Given the description of an element on the screen output the (x, y) to click on. 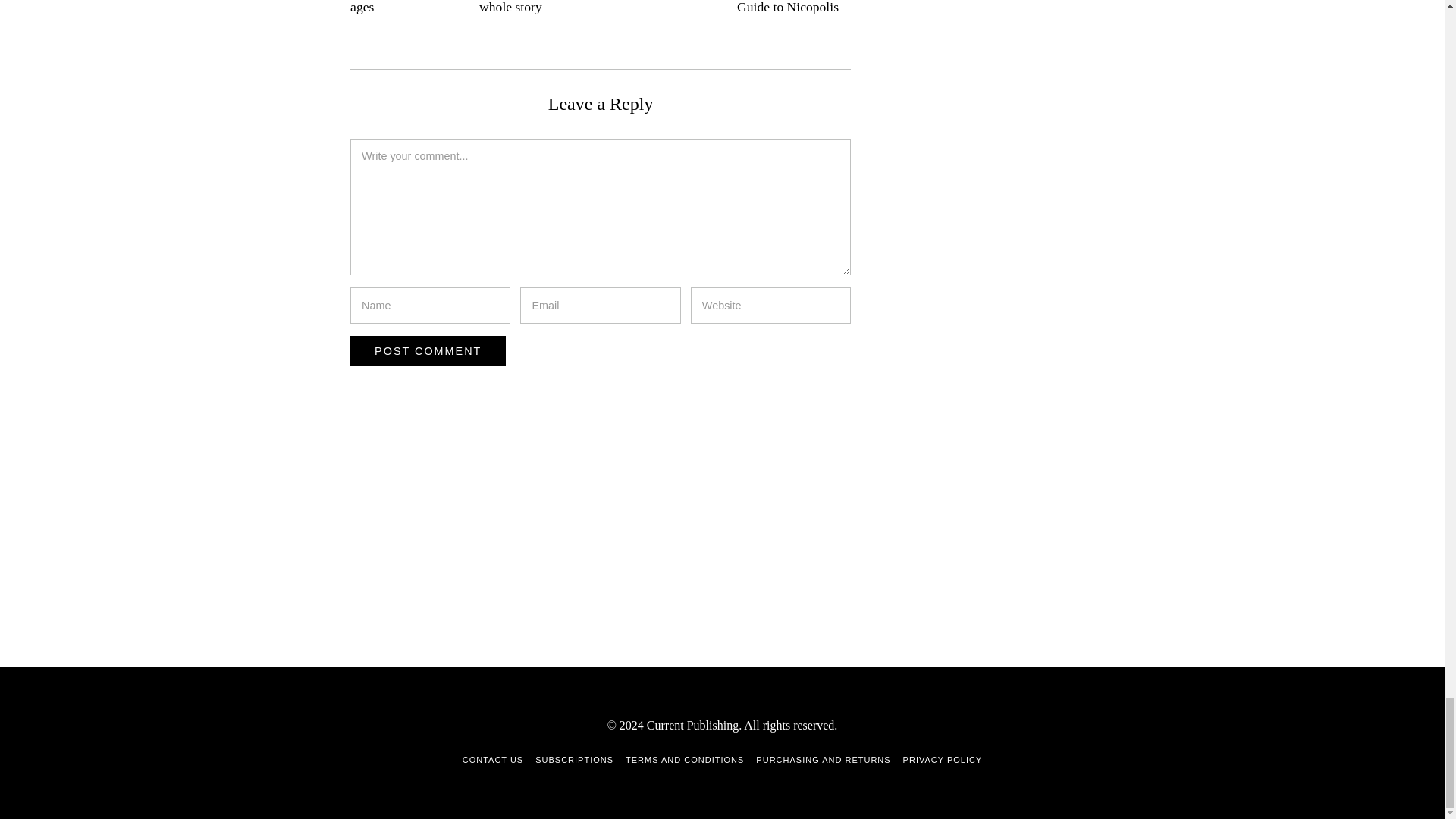
Post Comment (427, 350)
